Given the description of an element on the screen output the (x, y) to click on. 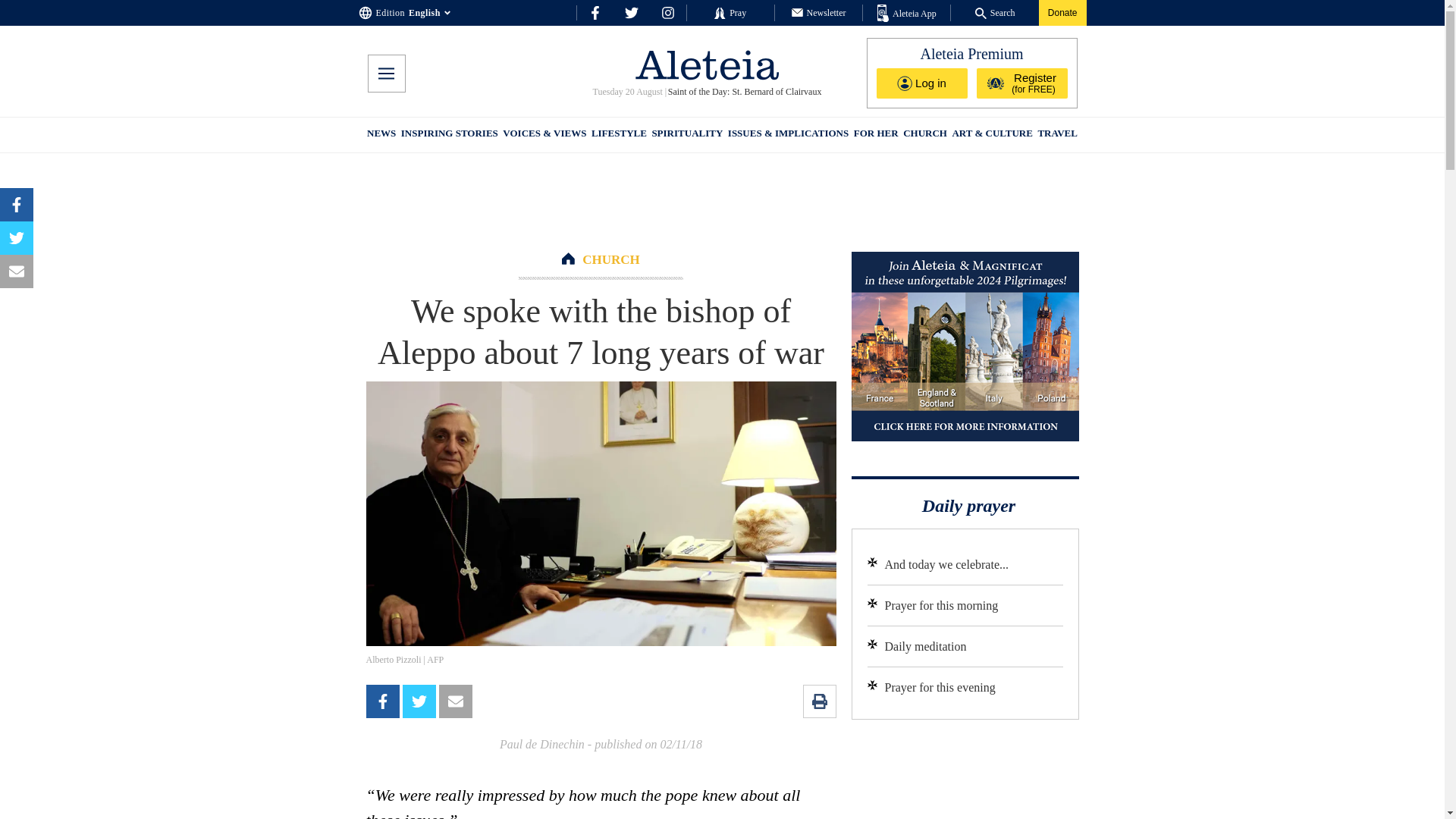
LIFESTYLE (618, 134)
Pray (729, 12)
Search (994, 12)
mobile-menu-btn (385, 73)
social-fb-top-row (595, 12)
3rd party ad content (964, 776)
TRAVEL (1056, 134)
CHURCH (924, 134)
Aleteia App (906, 13)
social-tw-top-row (631, 12)
